Given the description of an element on the screen output the (x, y) to click on. 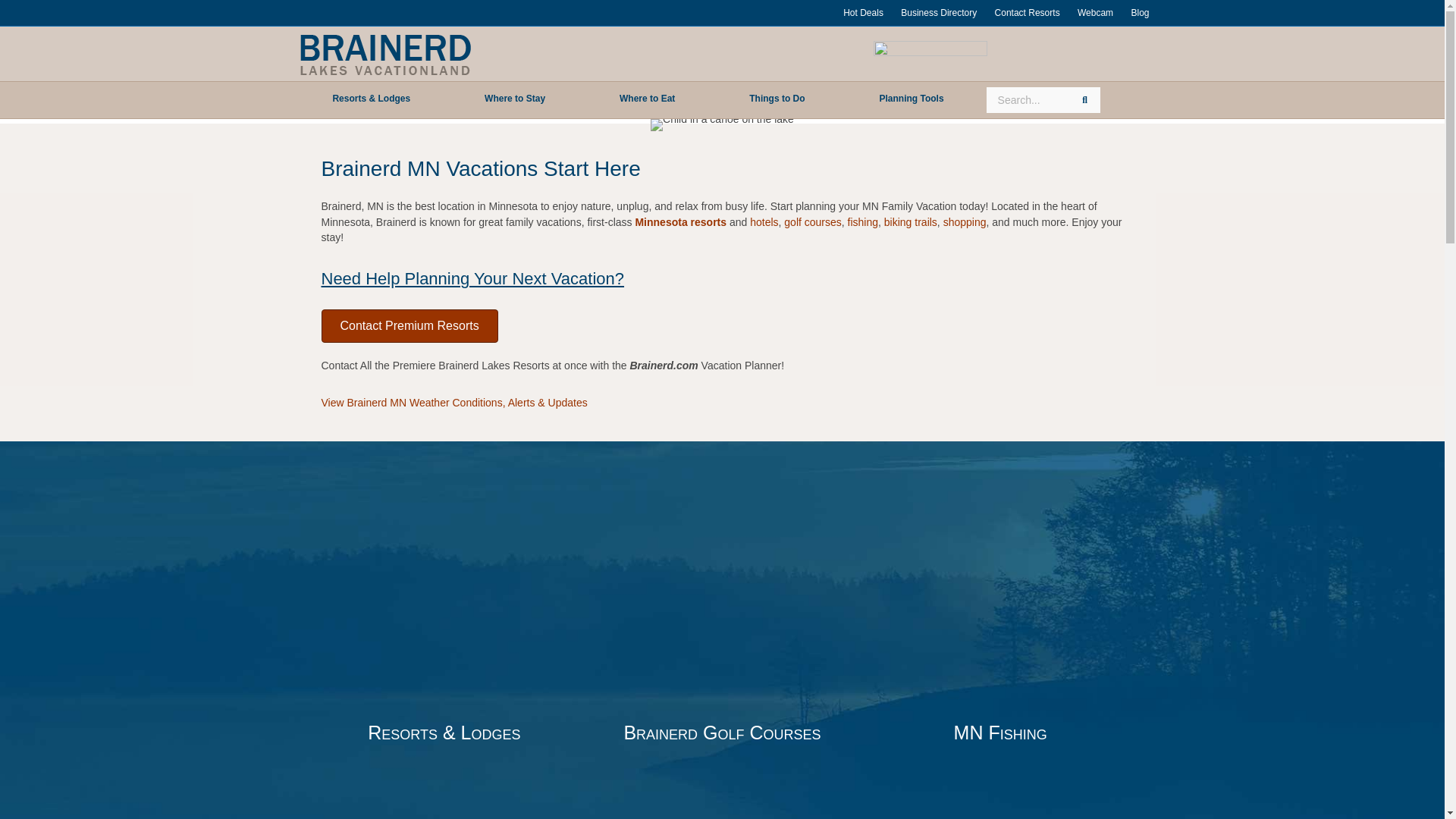
Brainerd MN Paul Bunyan Tail (1000, 801)
Where to Eat (646, 99)
Webcam (1095, 13)
Hot Deals (863, 13)
Where to Stay (514, 99)
Need Help Planning Your Next Vacation? (472, 278)
Things to Do (776, 99)
home-boat-rentals (443, 801)
Golf car on the golf course (721, 625)
Contact Resorts (1027, 13)
spinning with reel and evening summer lake (1000, 625)
Blog (1139, 13)
slide-boy-canoe (721, 124)
Business Directory (938, 13)
home-events-crow-wing-county-fair (721, 801)
